Given the description of an element on the screen output the (x, y) to click on. 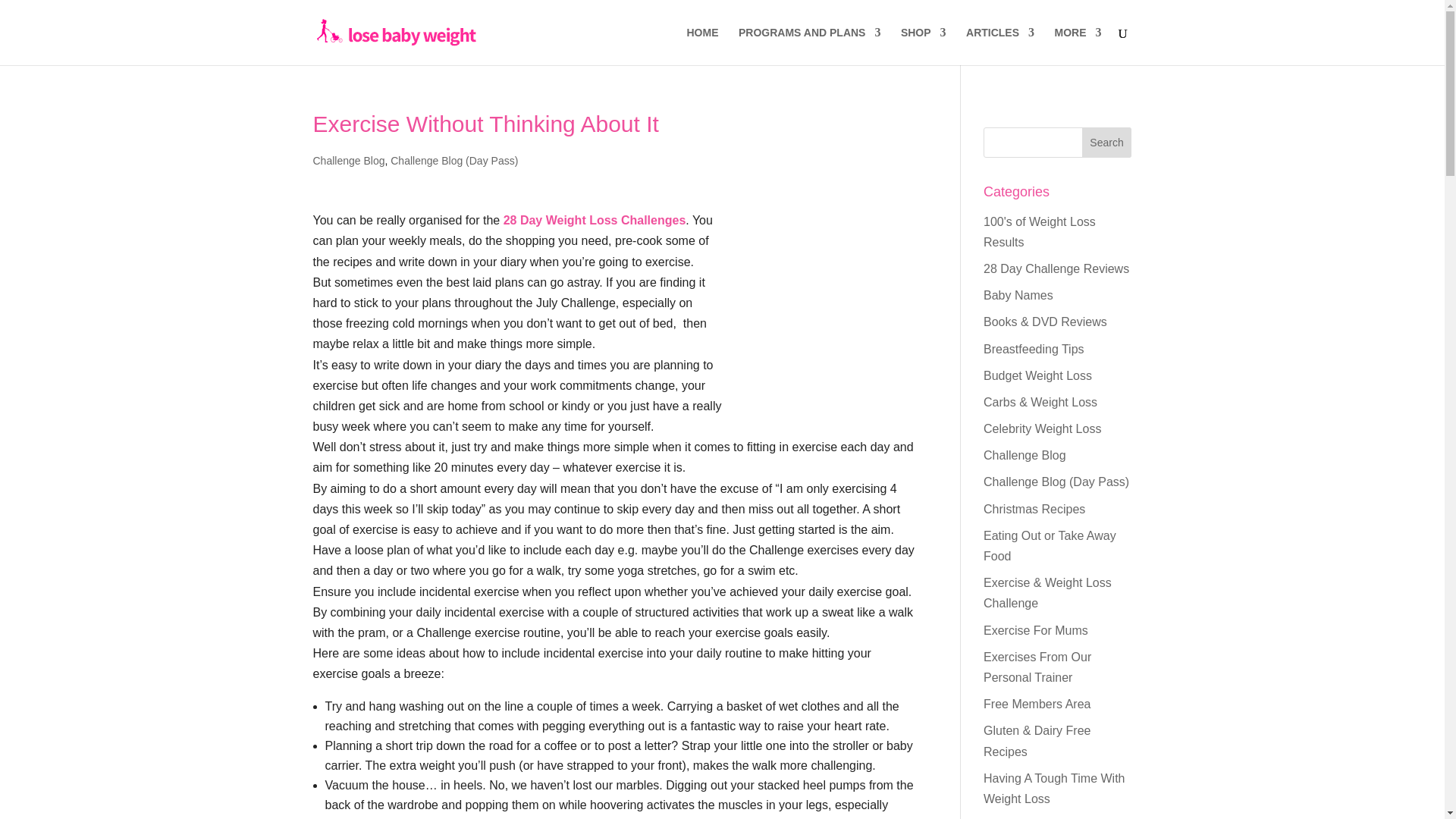
Baby Names (1018, 295)
Breastfeeding Tips (1034, 349)
MORE (1077, 46)
Celebrity Weight Loss (1042, 428)
ARTICLES (999, 46)
100's of Weight Loss Results (1040, 231)
Search (1106, 142)
SHOP (923, 46)
Search (1106, 142)
28 Day Weight Loss Challenges (594, 219)
best ways to lose weight (594, 219)
Challenge Blog (348, 160)
PROGRAMS AND PLANS (809, 46)
28 Day Challenge Reviews (1056, 268)
Budget Weight Loss (1038, 375)
